Given the description of an element on the screen output the (x, y) to click on. 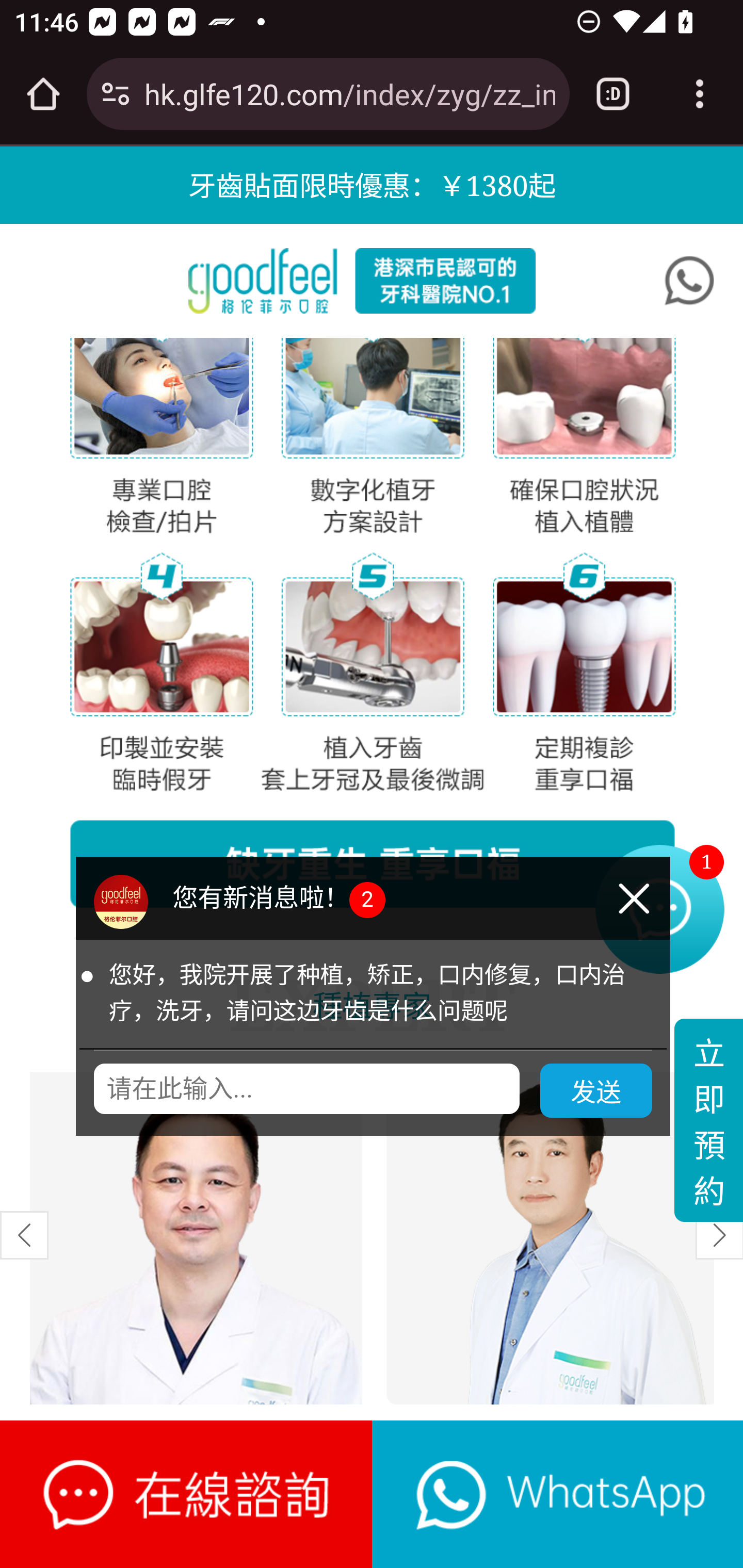
Open the home page (43, 93)
Connection is secure (115, 93)
Switch or close tabs (612, 93)
Customize and control Google Chrome (699, 93)
立 即 預 約 立 即 預 約 (708, 1121)
发送 (596, 1091)
Previous slide (25, 1236)
Next slide (718, 1236)
javascript:lrminiMax(); (186, 1494)
javascript:addMessage(); (557, 1494)
